Given the description of an element on the screen output the (x, y) to click on. 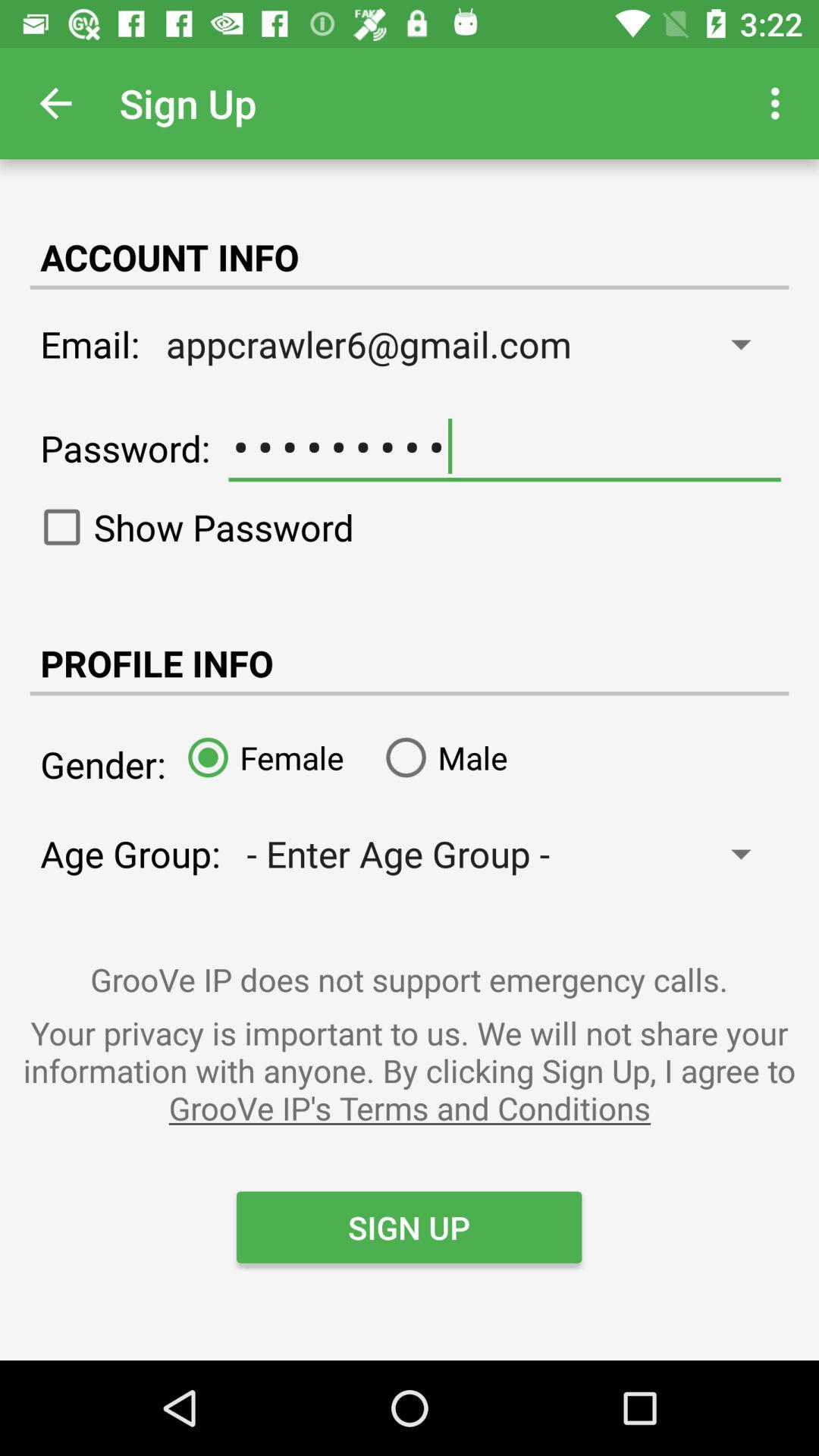
swipe until the male (440, 757)
